Given the description of an element on the screen output the (x, y) to click on. 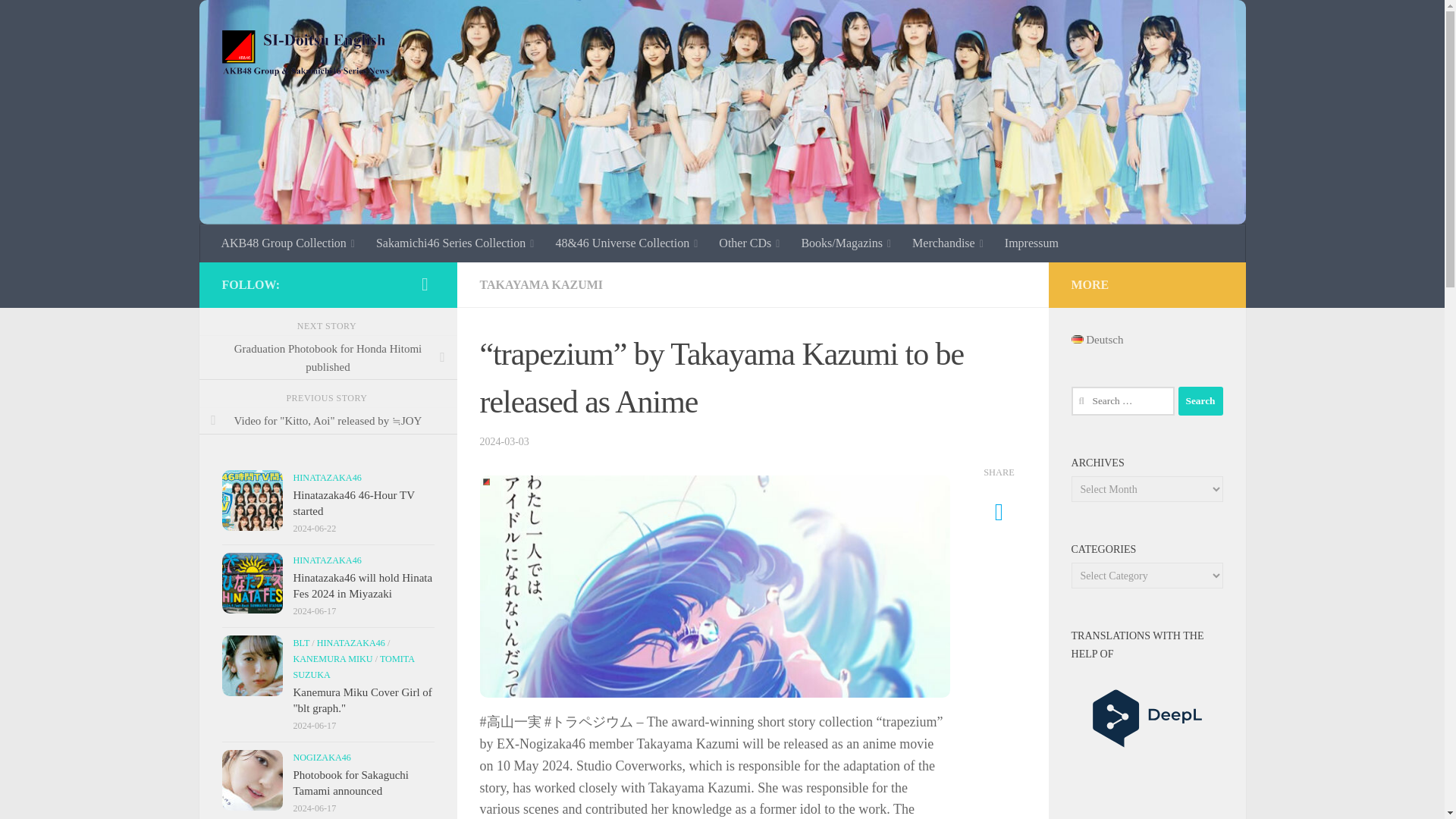
Search (1200, 400)
Folge uns auf Twitter (423, 284)
Search (1200, 400)
Skip to content (59, 20)
